Given the description of an element on the screen output the (x, y) to click on. 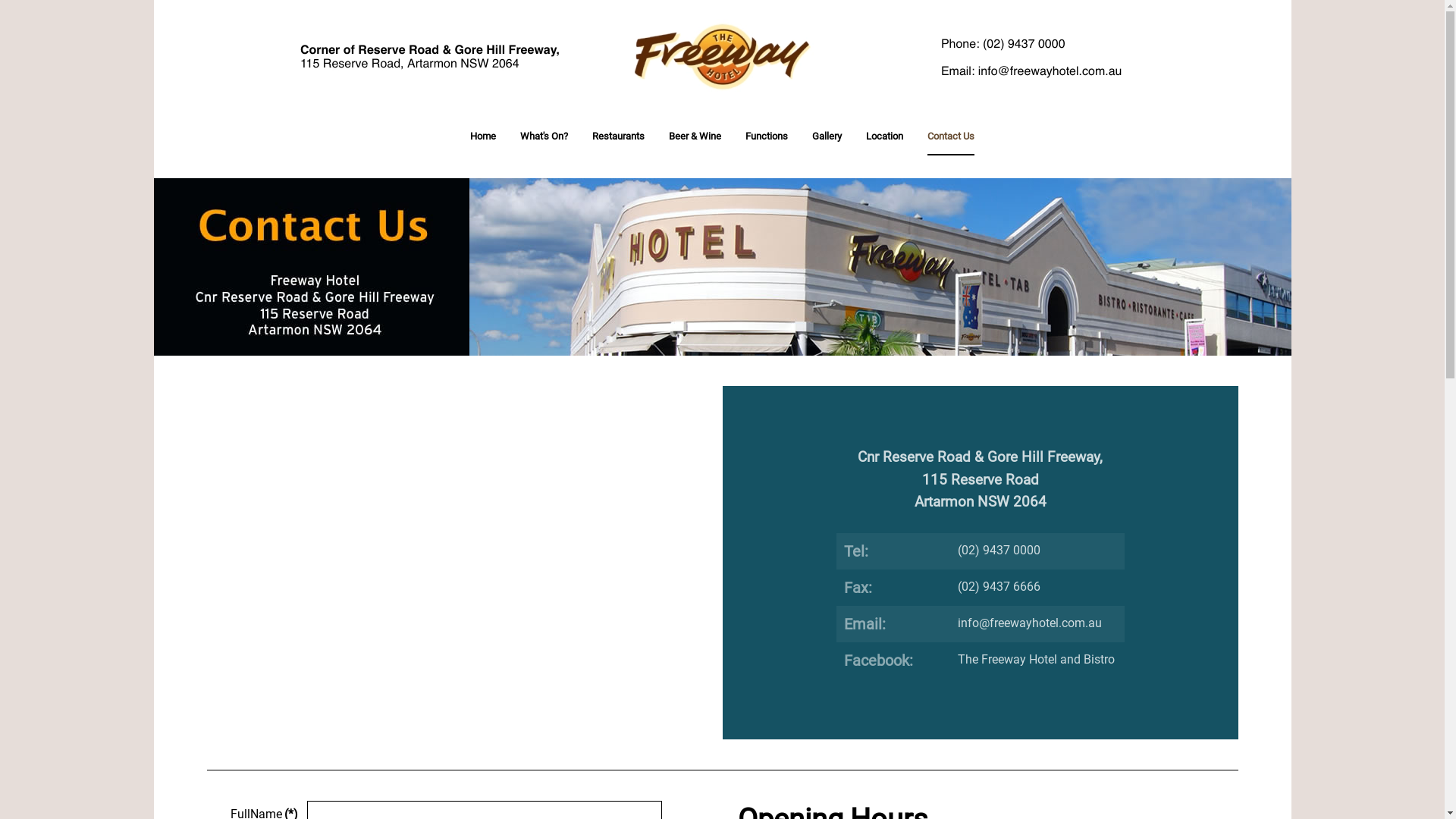
What'S On? Element type: text (544, 136)
Restaurants Element type: text (618, 136)
Location Element type: text (884, 136)
(02) 9437 0000 Element type: text (998, 549)
info@freewayhotel.com.au Element type: text (1029, 622)
The Freeway Hotel and Bistro Element type: text (1035, 659)
Functions Element type: text (766, 136)
Gallery Element type: text (826, 136)
Home Element type: text (483, 136)
Contact Us Element type: text (950, 136)
Beer & Wine Element type: text (694, 136)
